Given the description of an element on the screen output the (x, y) to click on. 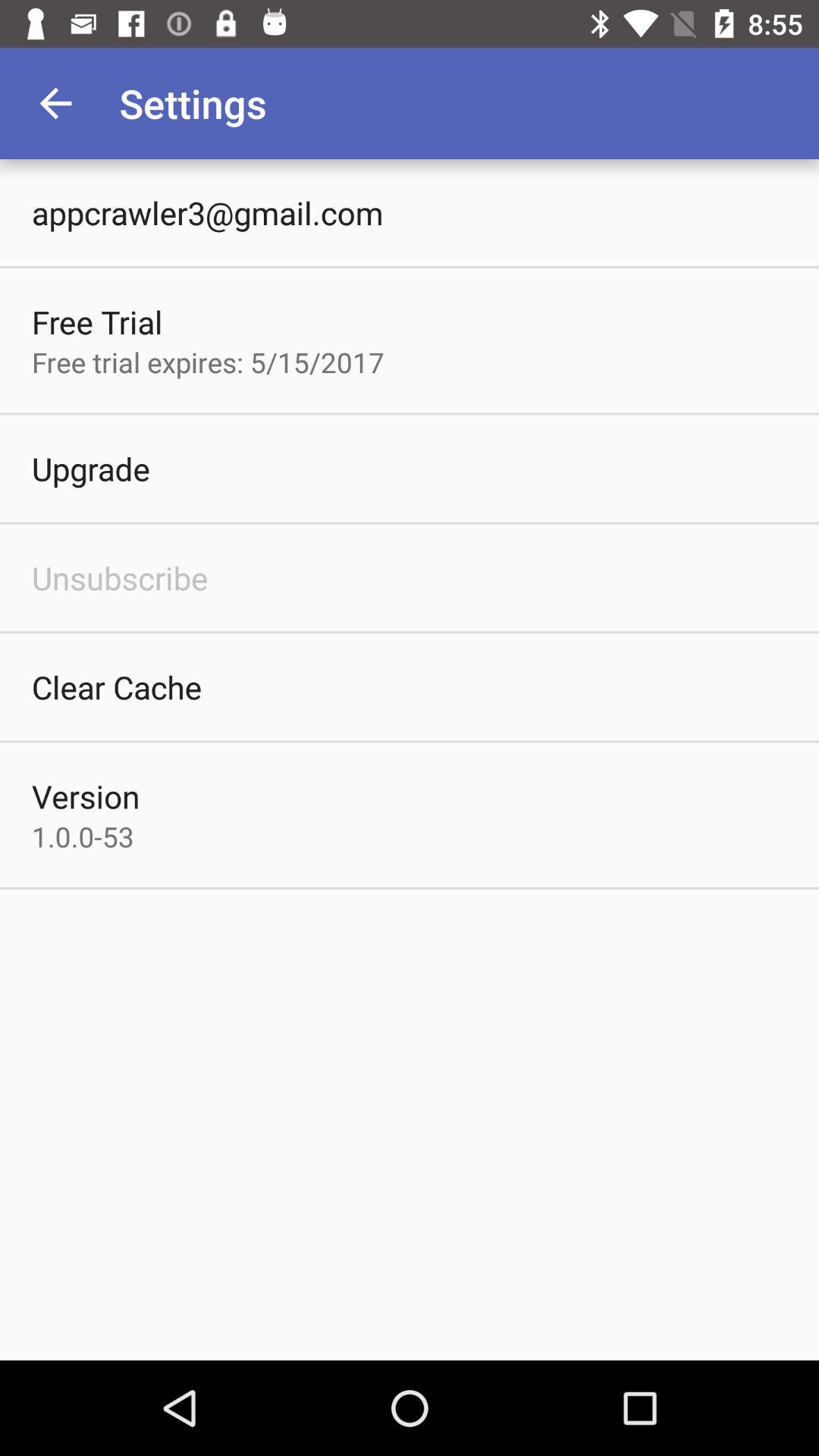
tap version (85, 795)
